Given the description of an element on the screen output the (x, y) to click on. 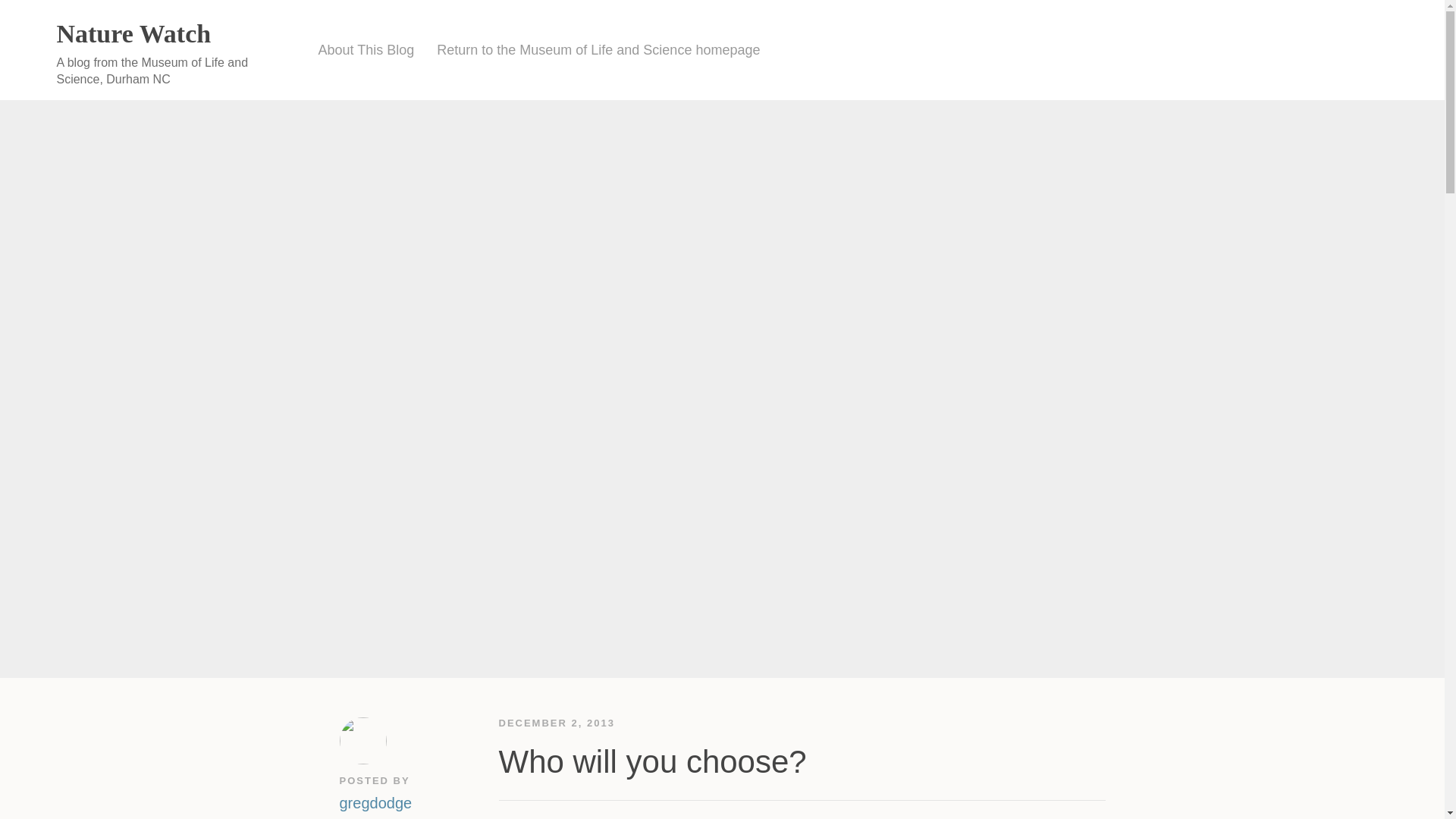
Nature Watch (133, 33)
Search (1396, 50)
DECEMBER 2, 2013 (556, 722)
gregdodge (375, 801)
About This Blog (365, 49)
Search (1396, 50)
Return to the Museum of Life and Science homepage (598, 49)
Search (1396, 50)
